Given the description of an element on the screen output the (x, y) to click on. 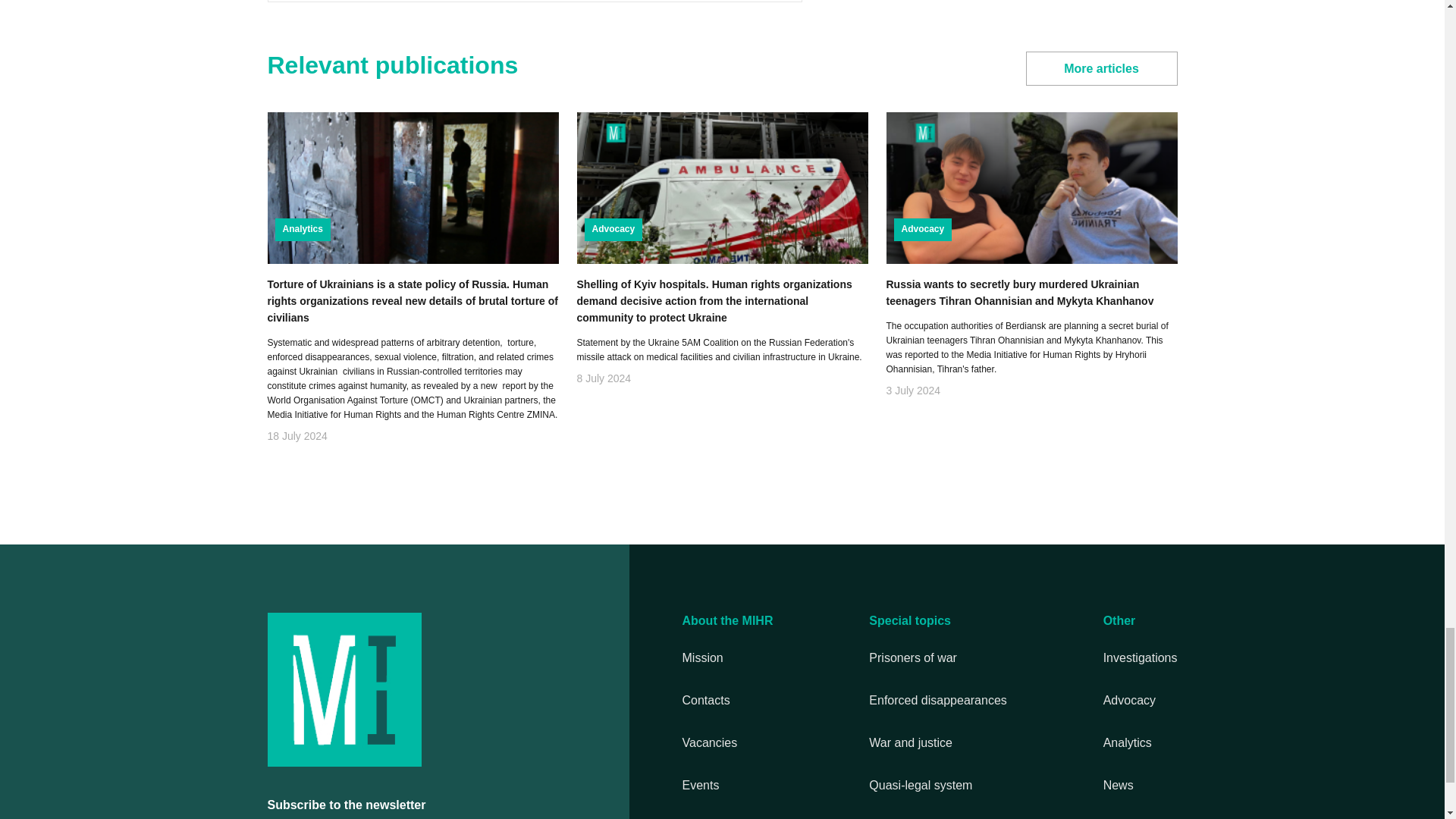
More articles (1100, 68)
